Given the description of an element on the screen output the (x, y) to click on. 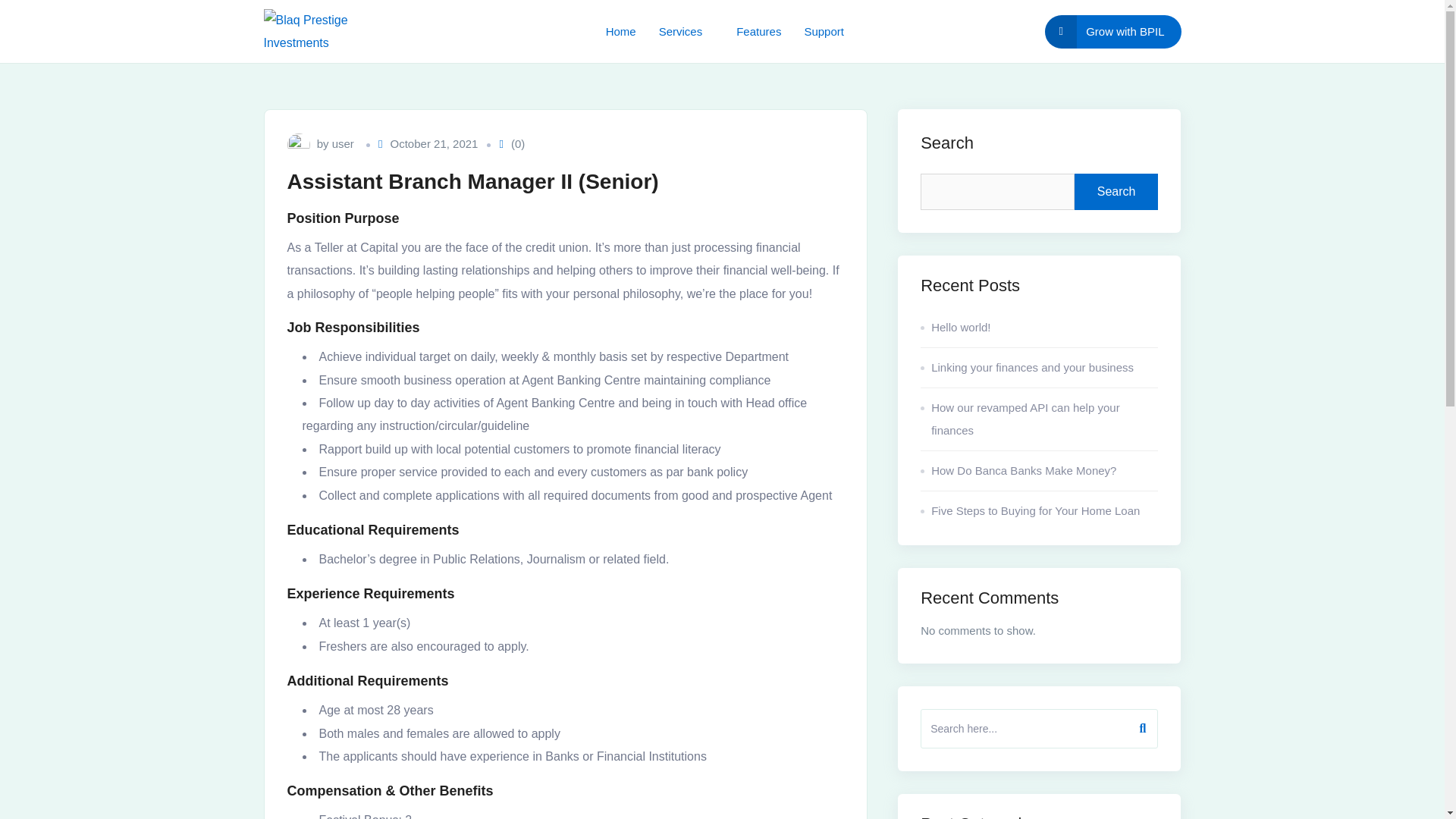
Linking your finances and your business (1038, 368)
Grow with BPIL (1112, 31)
Five Steps to Buying for Your Home Loan (1038, 506)
Support (824, 31)
How our revamped API can help your finances (1038, 419)
Search (1116, 191)
user (342, 144)
Services (686, 31)
Features (758, 31)
Hello world! (1038, 327)
How Do Banca Banks Make Money? (1038, 471)
